Given the description of an element on the screen output the (x, y) to click on. 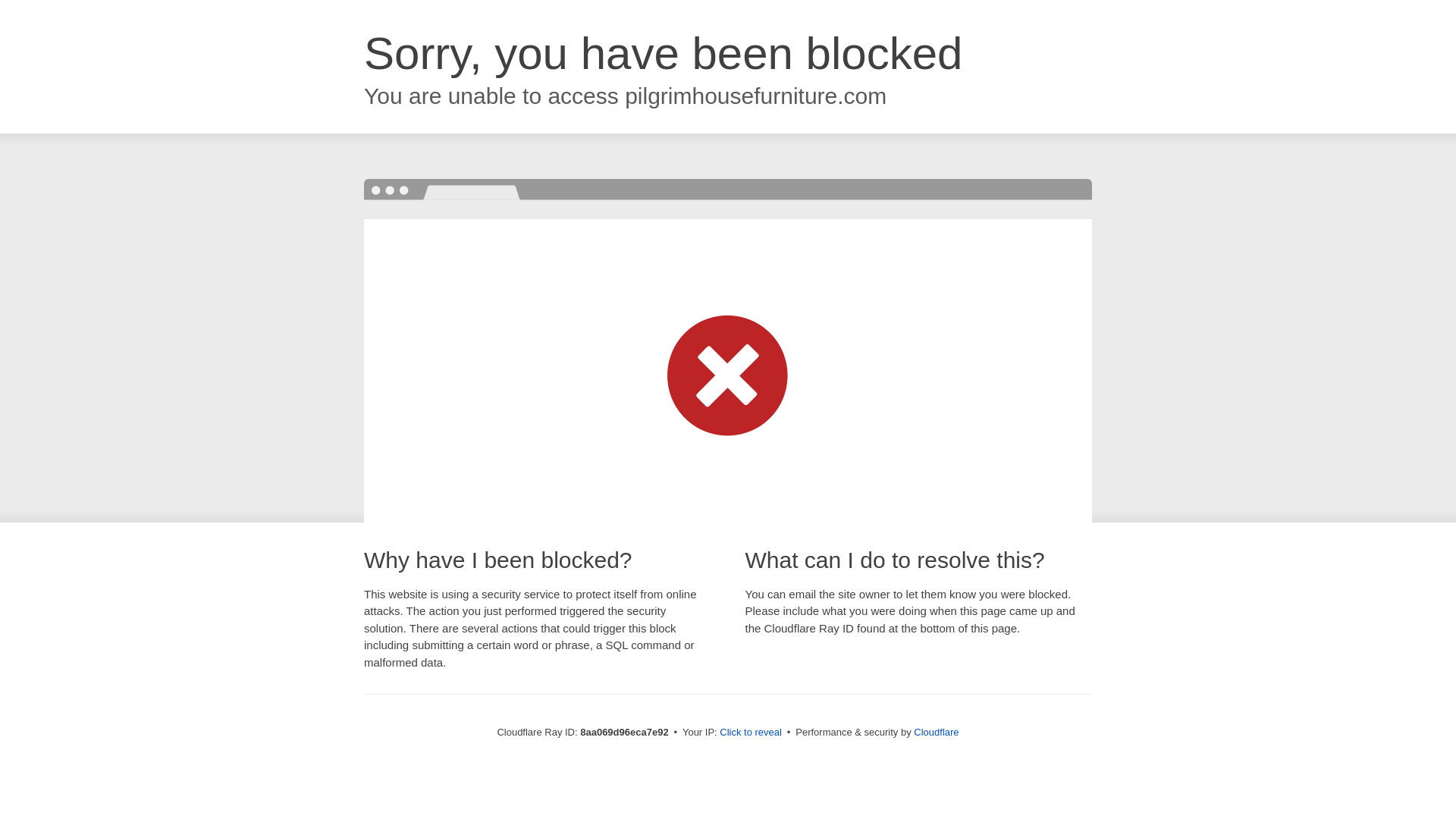
Cloudflare (936, 731)
Click to reveal (750, 732)
